Given the description of an element on the screen output the (x, y) to click on. 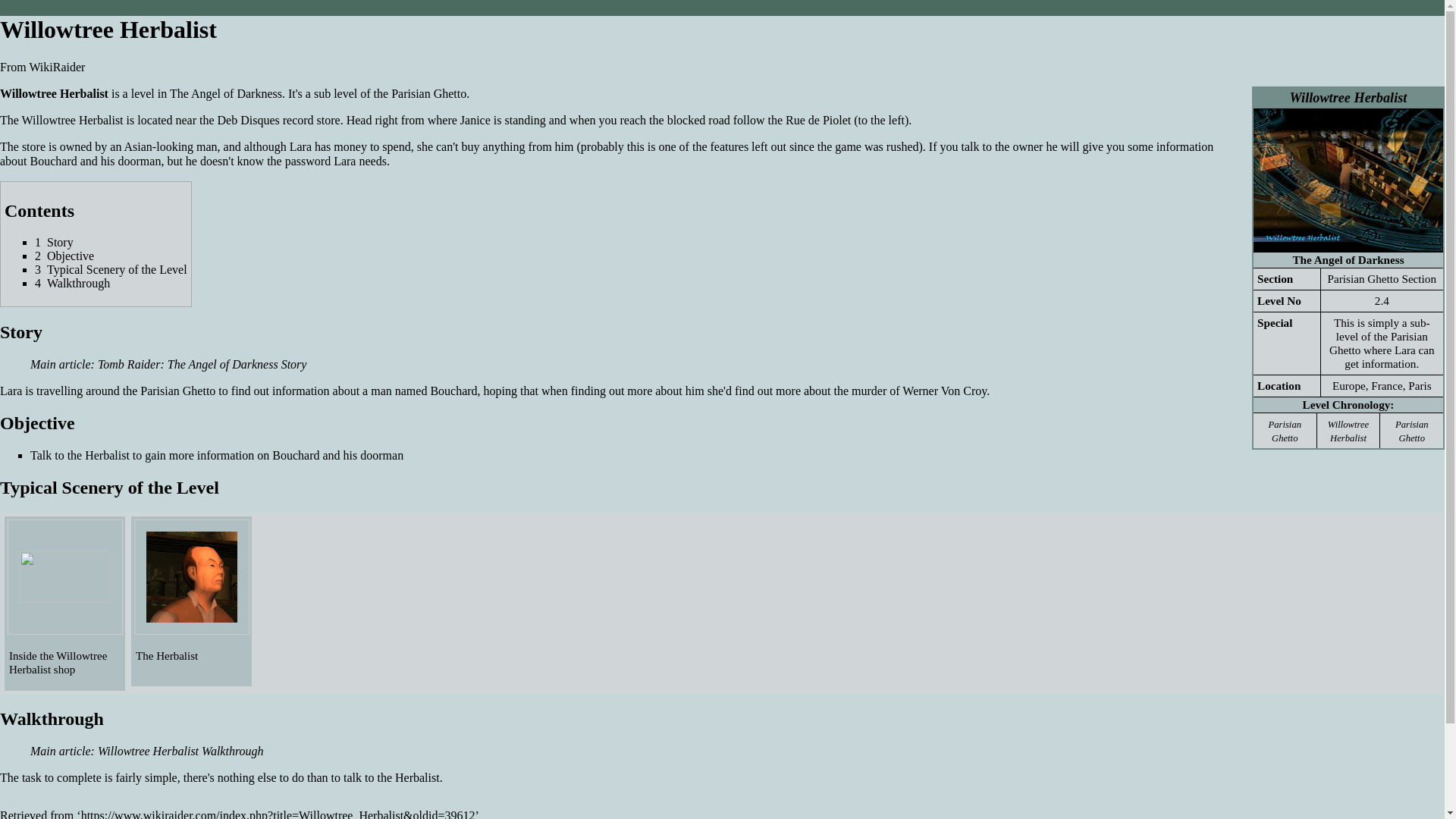
Louis Bouchard (453, 390)
Paris (1419, 385)
Bouchard's Doorman (130, 160)
The Angel of Darkness (1347, 259)
Paris (1419, 385)
Parisian Ghetto (1411, 431)
Werner Von Croy (944, 390)
1 Story (54, 241)
Europe (1348, 385)
Parisian Ghetto (1411, 431)
The Angel of Darkness (1347, 259)
Herbalist (416, 777)
Werner Von Croy (944, 390)
Tomb Raider: The Angel of Darkness Story (202, 364)
Parisian Ghetto (177, 390)
